Given the description of an element on the screen output the (x, y) to click on. 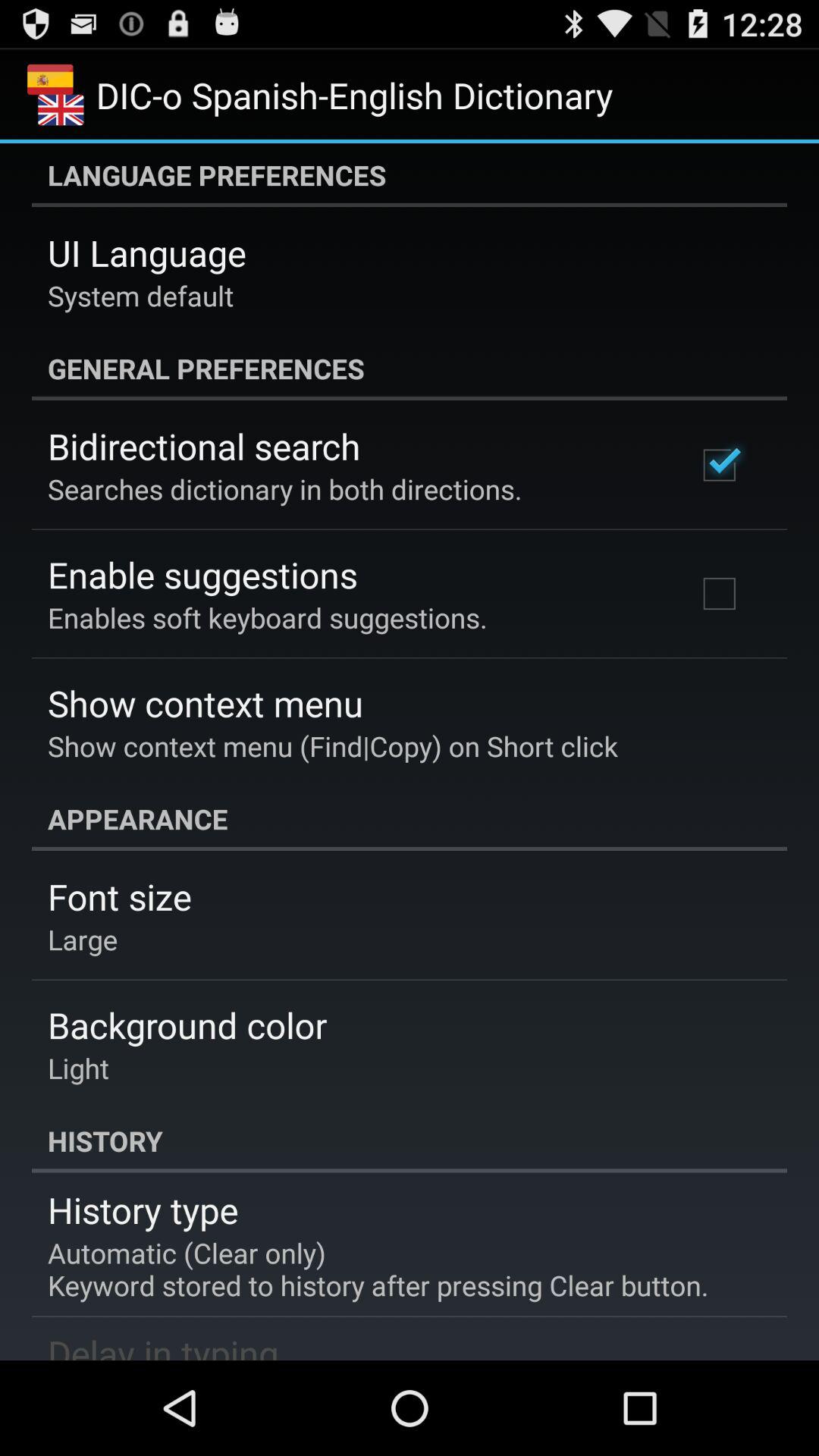
click the icon below enable suggestions app (267, 617)
